Given the description of an element on the screen output the (x, y) to click on. 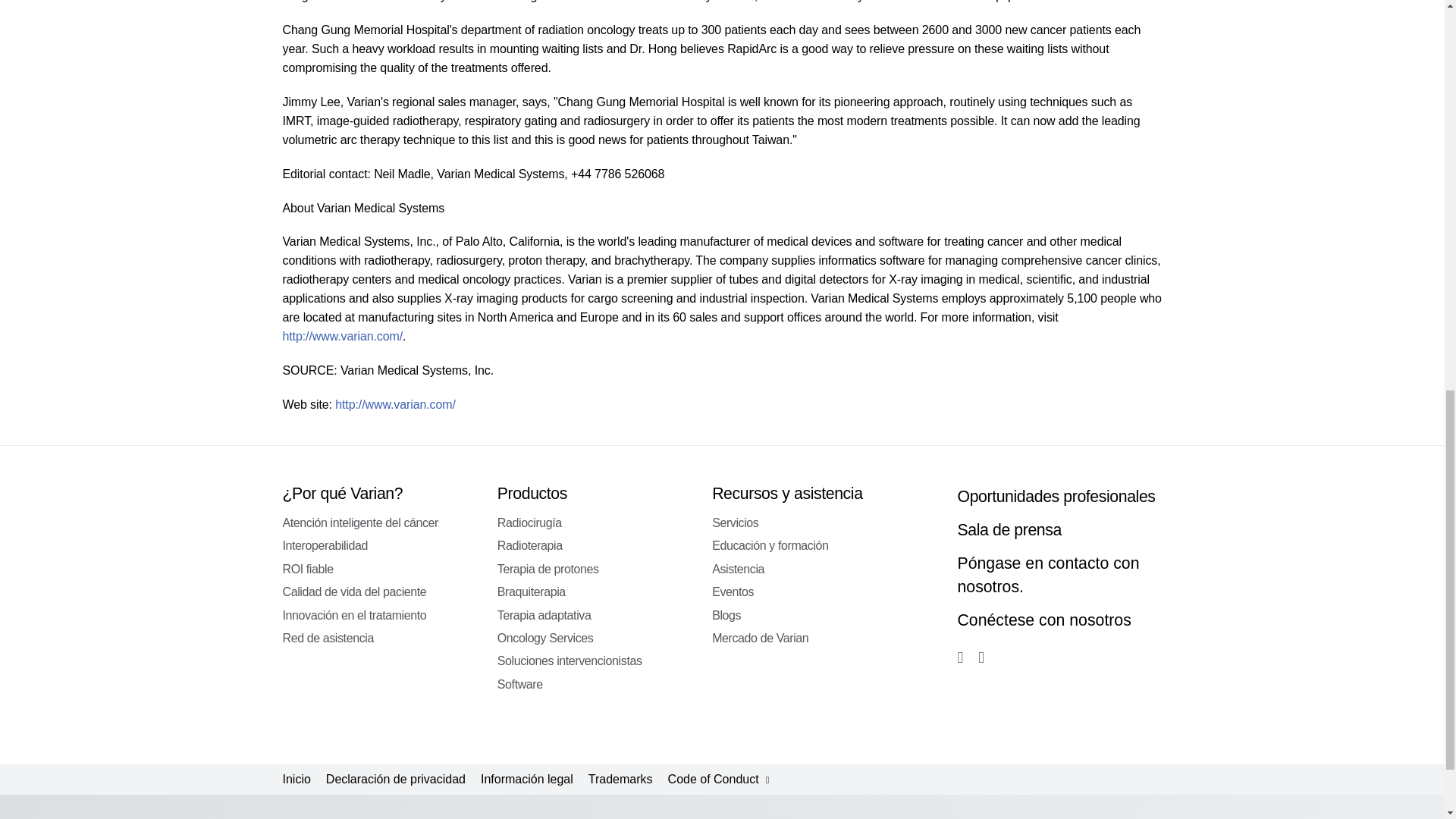
Calidad de vida del paciente (354, 591)
ROI fiable (307, 568)
Interoperabilidad (324, 545)
